Given the description of an element on the screen output the (x, y) to click on. 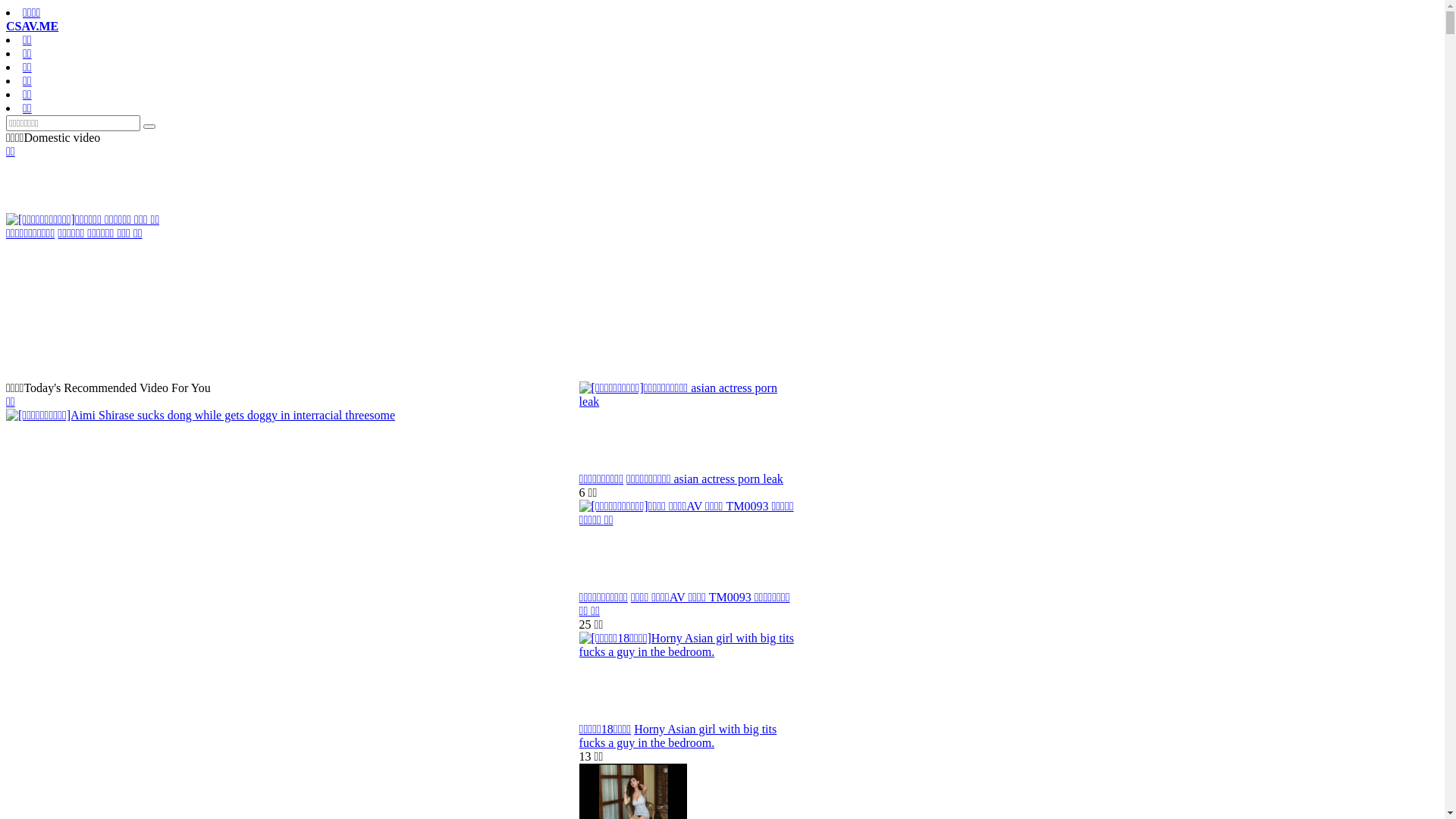
Horny Asian girl with big tits fucks a guy in the bedroom. Element type: text (678, 735)
